Given the description of an element on the screen output the (x, y) to click on. 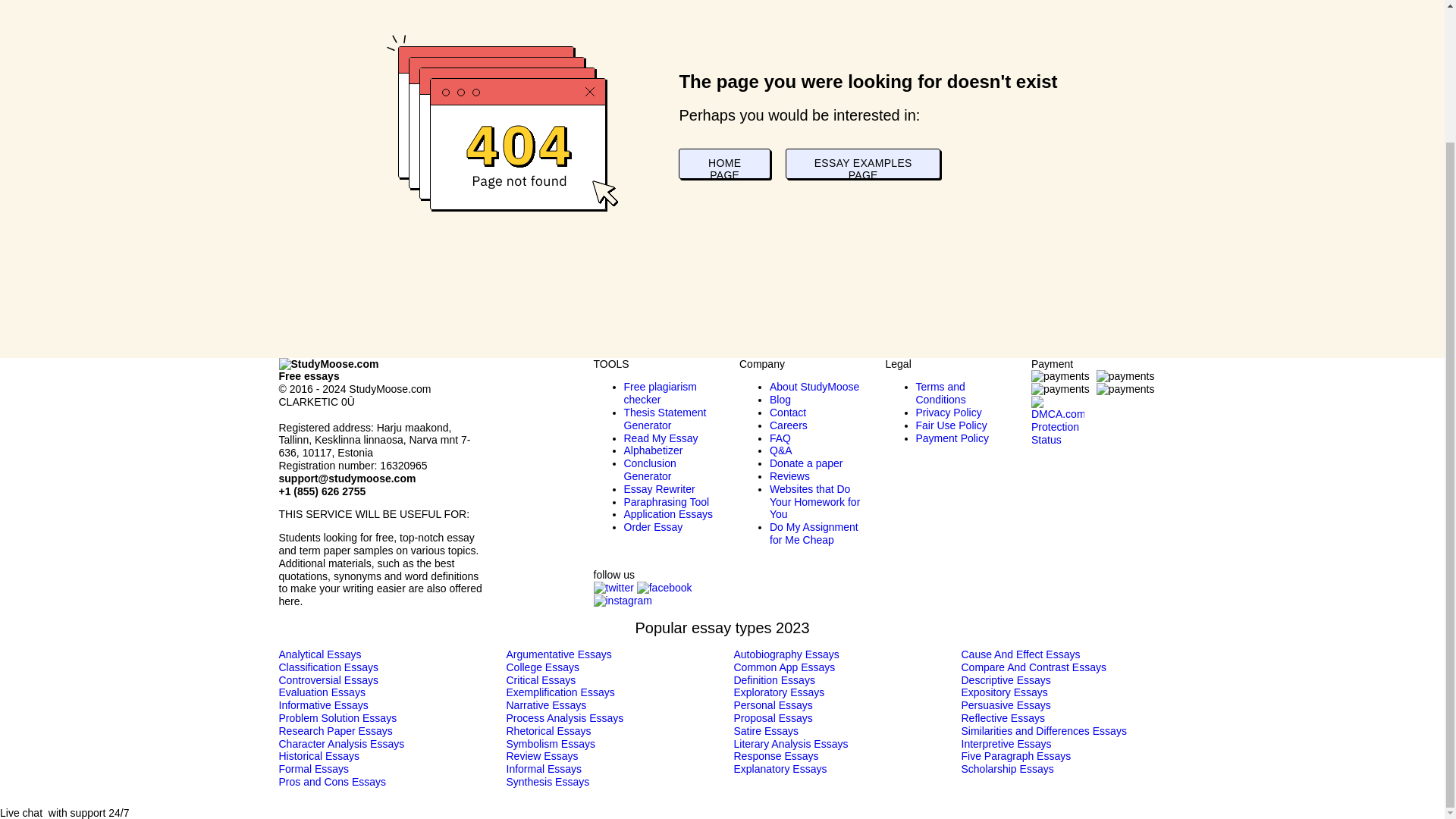
Essay Rewriter (658, 489)
Websites that Do Your Homework for You (815, 501)
Order Essay (652, 526)
FAQ (780, 438)
DMCA.com Protection Status (1057, 409)
Alphabetizer (652, 450)
Blog (780, 399)
Thesis Statement Generator (664, 418)
Read My Essay (660, 438)
HOME PAGE (724, 163)
